Given the description of an element on the screen output the (x, y) to click on. 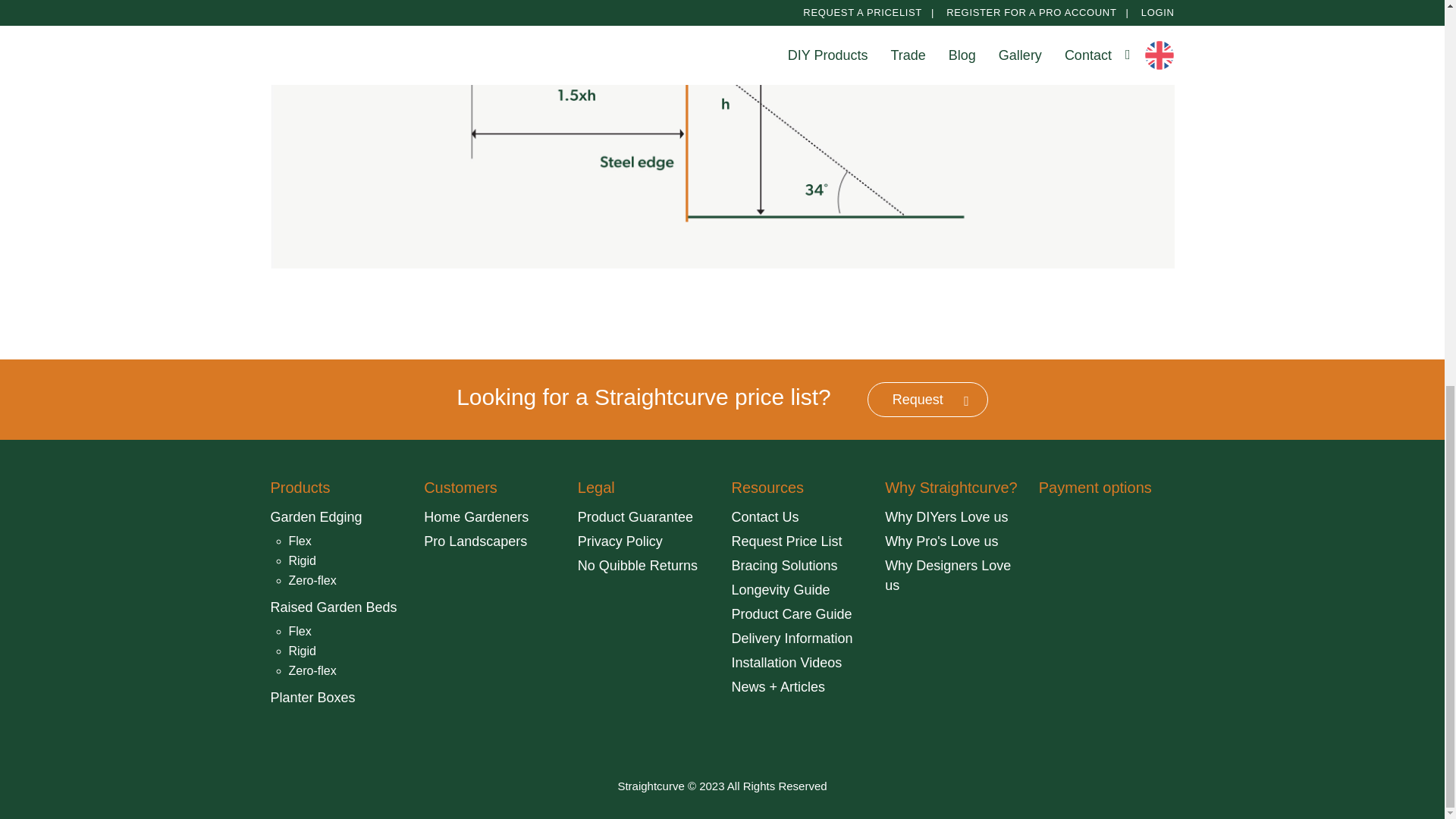
Zero-flex (312, 580)
Rigid (301, 650)
Zero-flex (312, 670)
Request (927, 399)
Raised Garden Beds (332, 607)
Flex (299, 631)
Flex (299, 540)
Garden Edging (315, 516)
Rigid (301, 560)
